Given the description of an element on the screen output the (x, y) to click on. 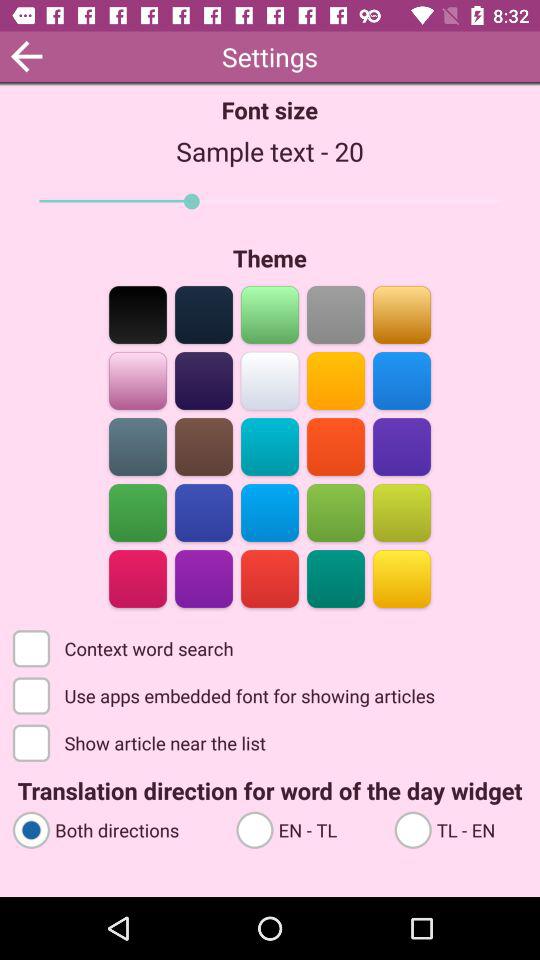
tap the use apps embedded item (225, 694)
